Given the description of an element on the screen output the (x, y) to click on. 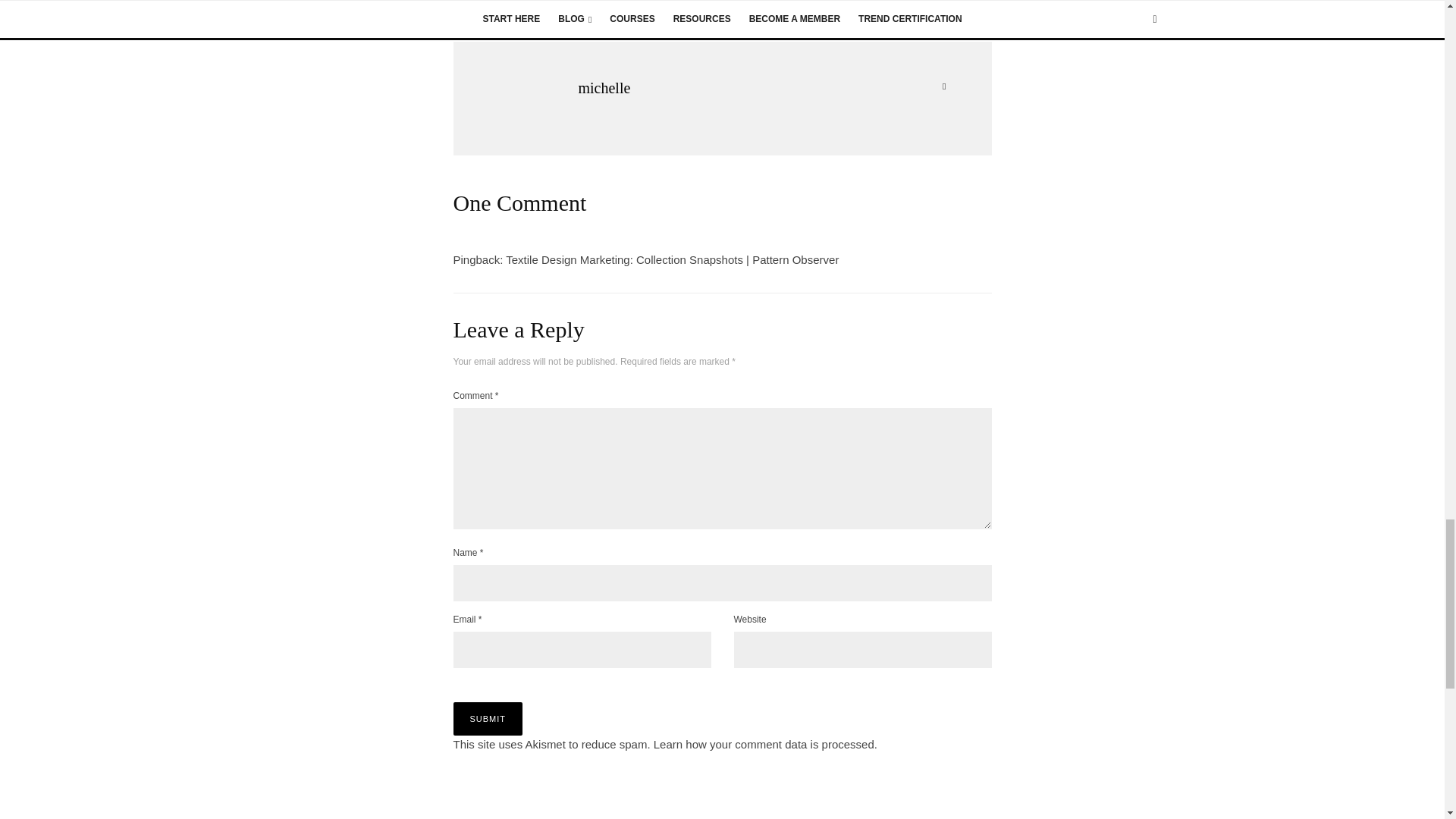
Submit (487, 718)
